Given the description of an element on the screen output the (x, y) to click on. 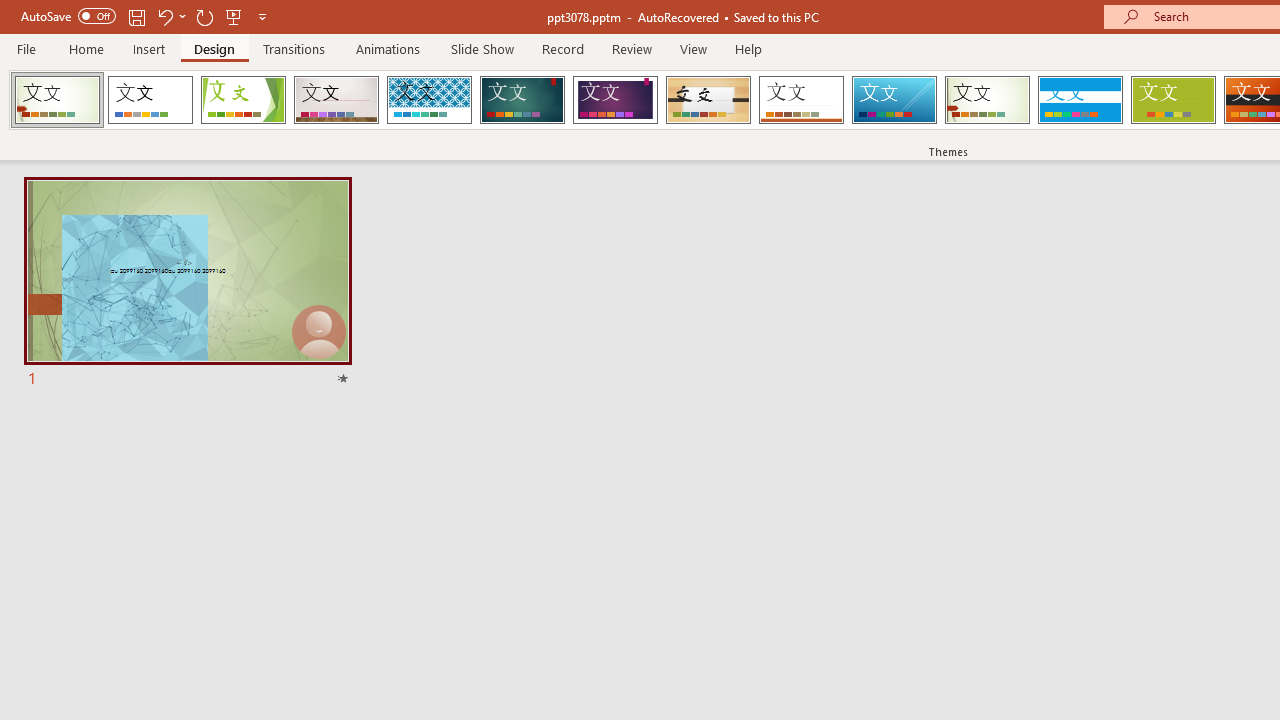
Banded (1080, 100)
Wisp (987, 100)
Ion Boardroom (615, 100)
Slice (893, 100)
Gallery (336, 100)
